Given the description of an element on the screen output the (x, y) to click on. 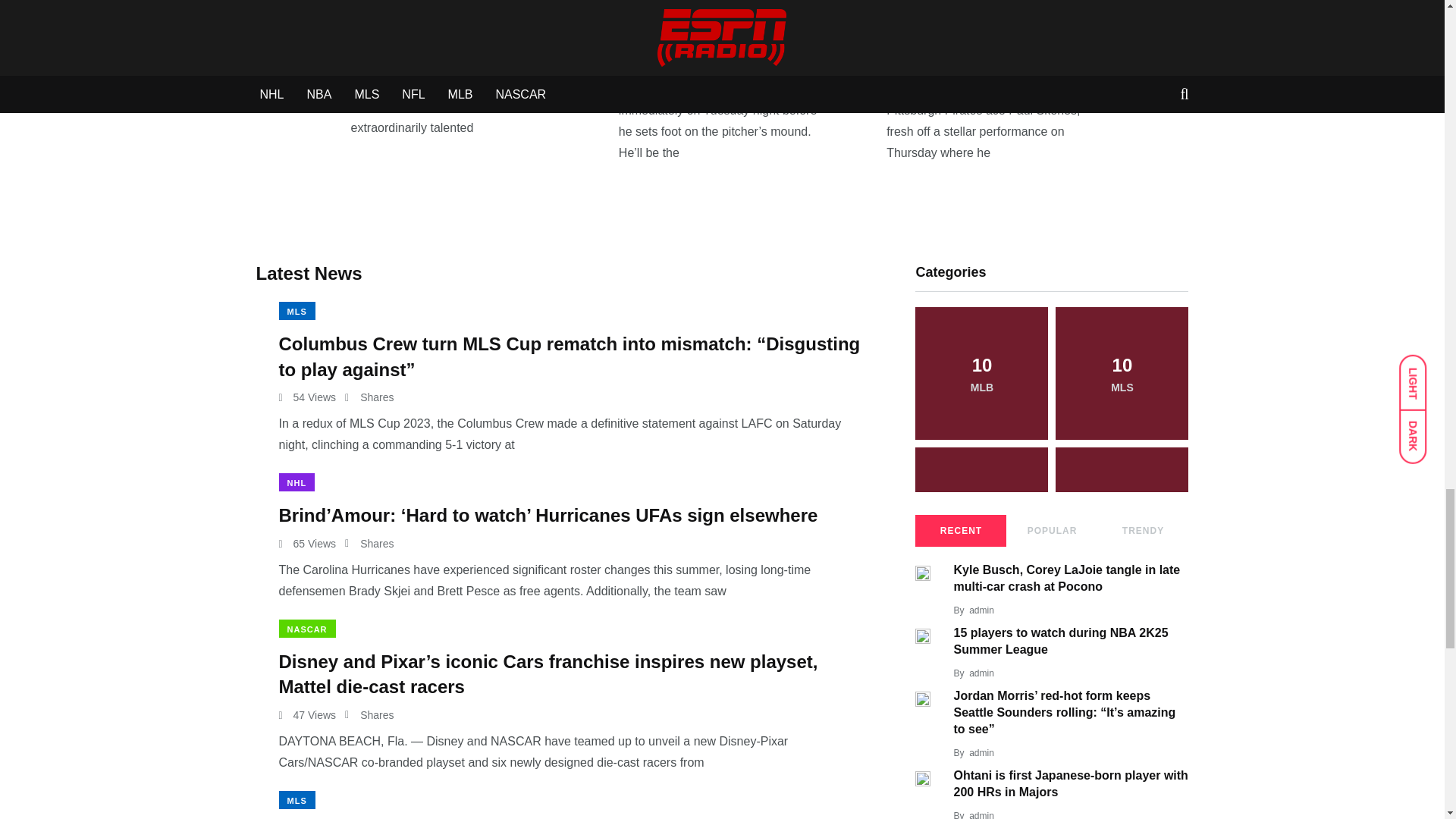
Posts by admin (981, 673)
Posts by admin (981, 610)
Posts by admin (981, 814)
Posts by admin (981, 752)
